Given the description of an element on the screen output the (x, y) to click on. 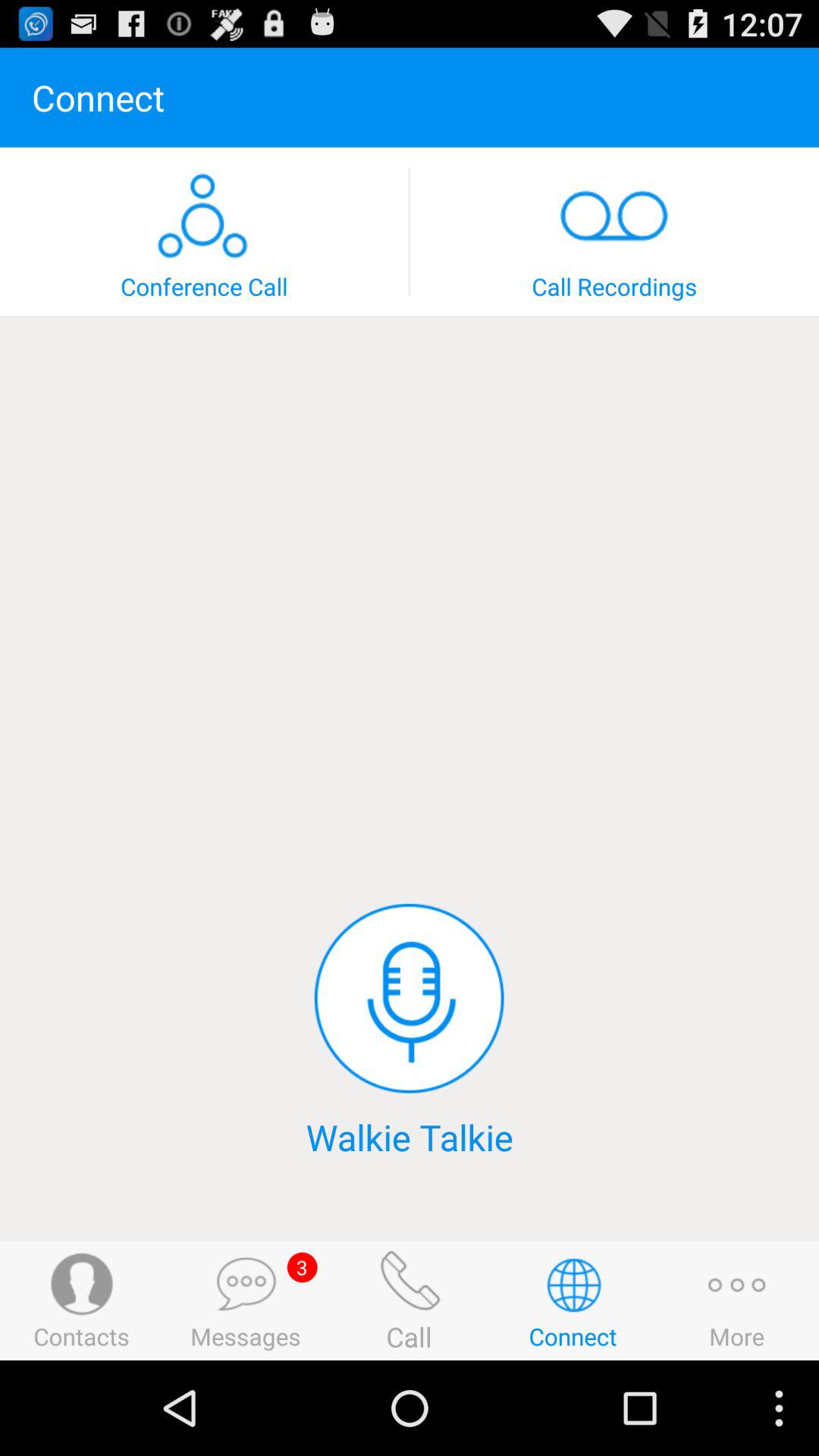
switch mic on (408, 998)
